Given the description of an element on the screen output the (x, y) to click on. 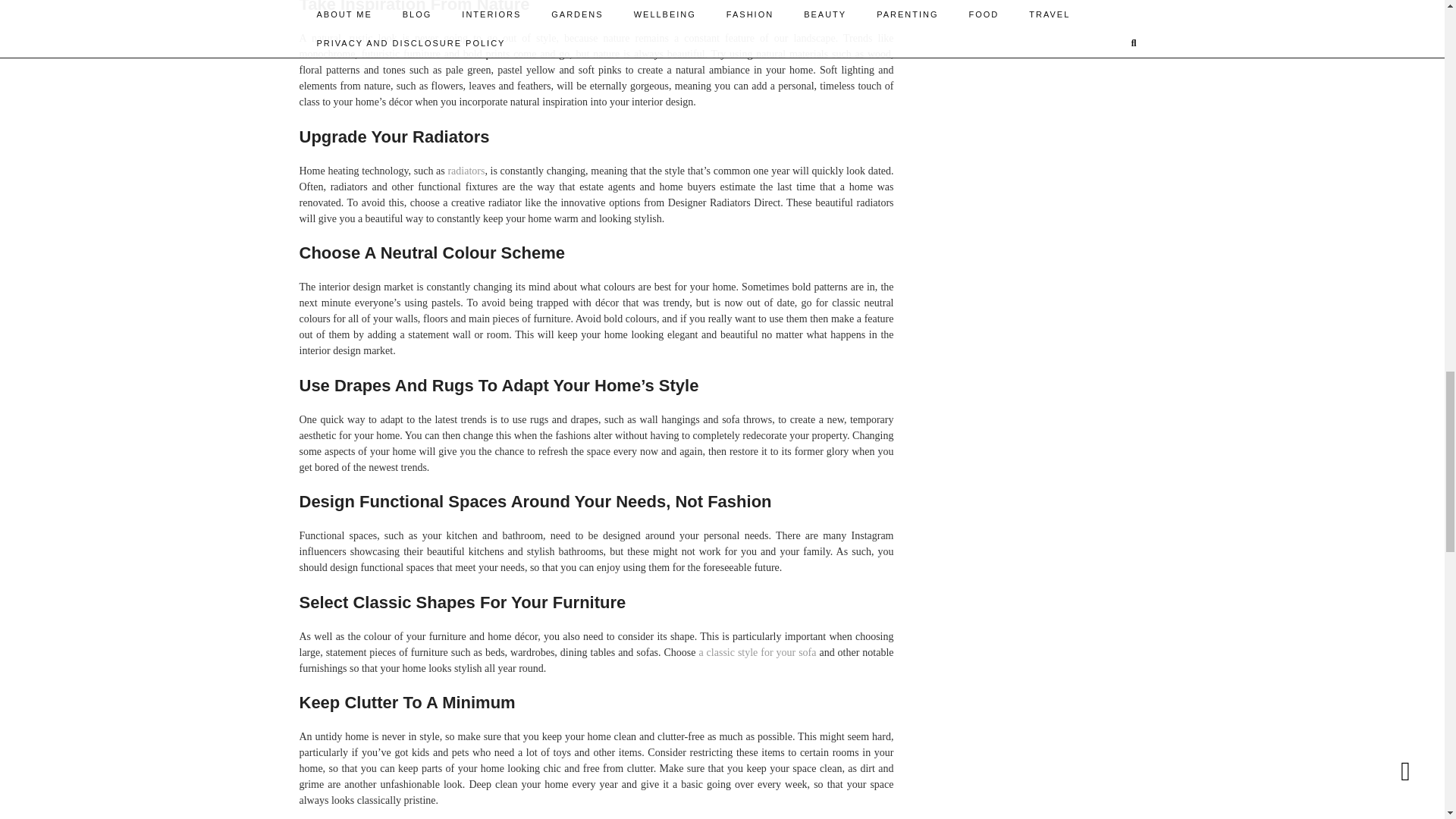
radiators (465, 170)
a classic style for your sofa (756, 652)
